Given the description of an element on the screen output the (x, y) to click on. 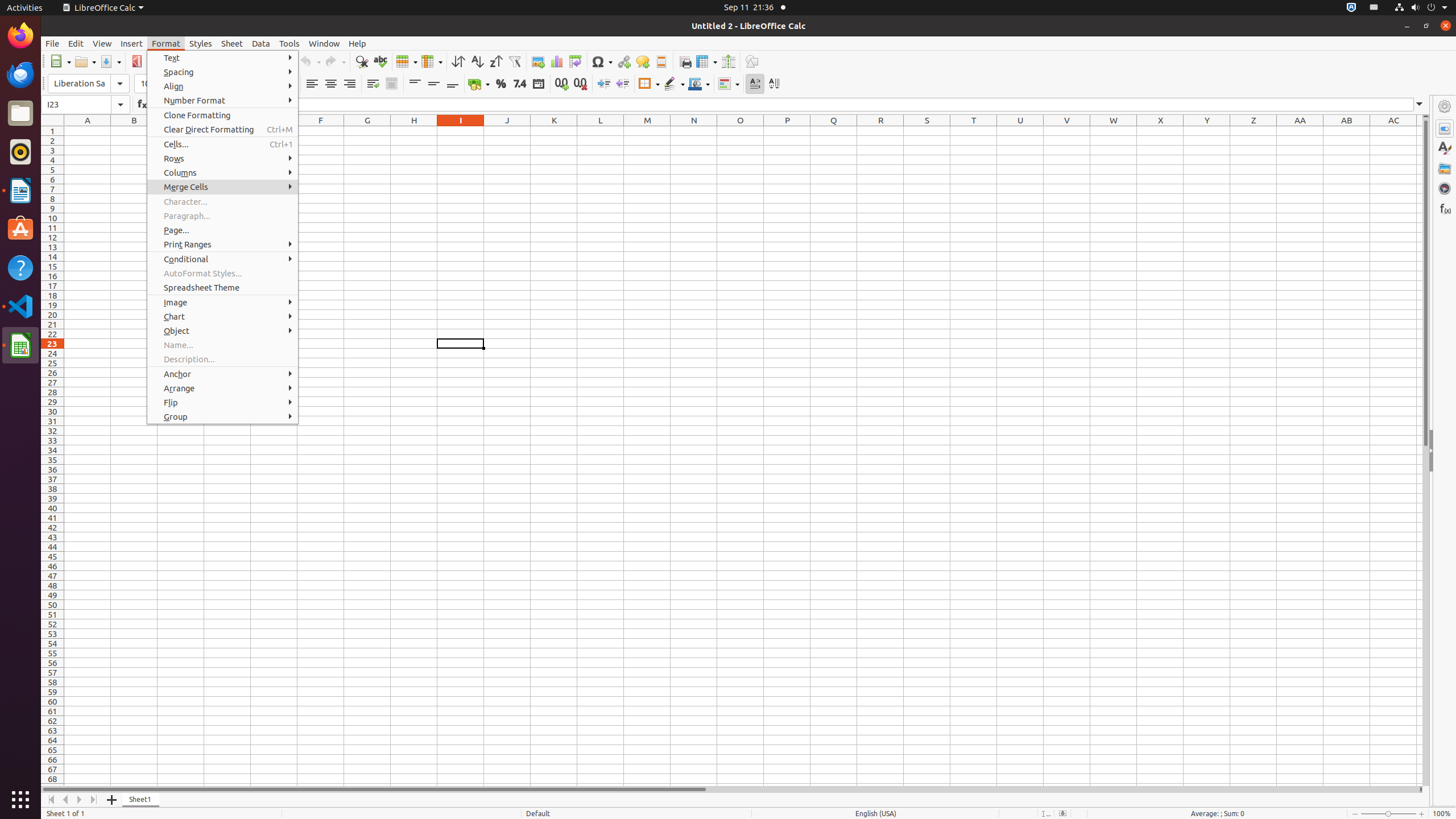
Vertical scroll bar Element type: scroll-bar (1425, 451)
K1 Element type: table-cell (553, 130)
S1 Element type: table-cell (926, 130)
Move To Home Element type: push-button (51, 799)
